Given the description of an element on the screen output the (x, y) to click on. 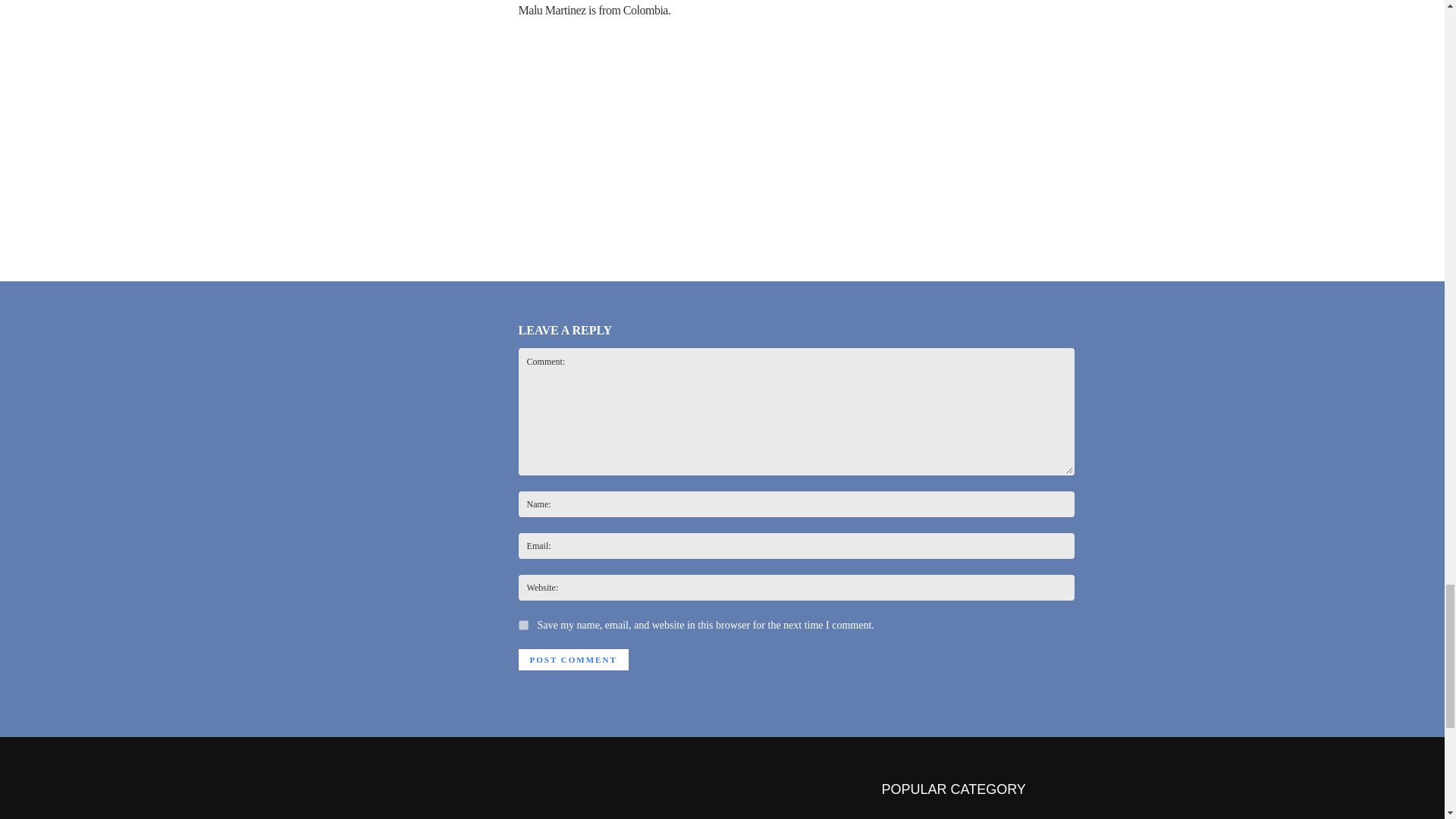
yes (523, 624)
Post Comment (573, 659)
